Given the description of an element on the screen output the (x, y) to click on. 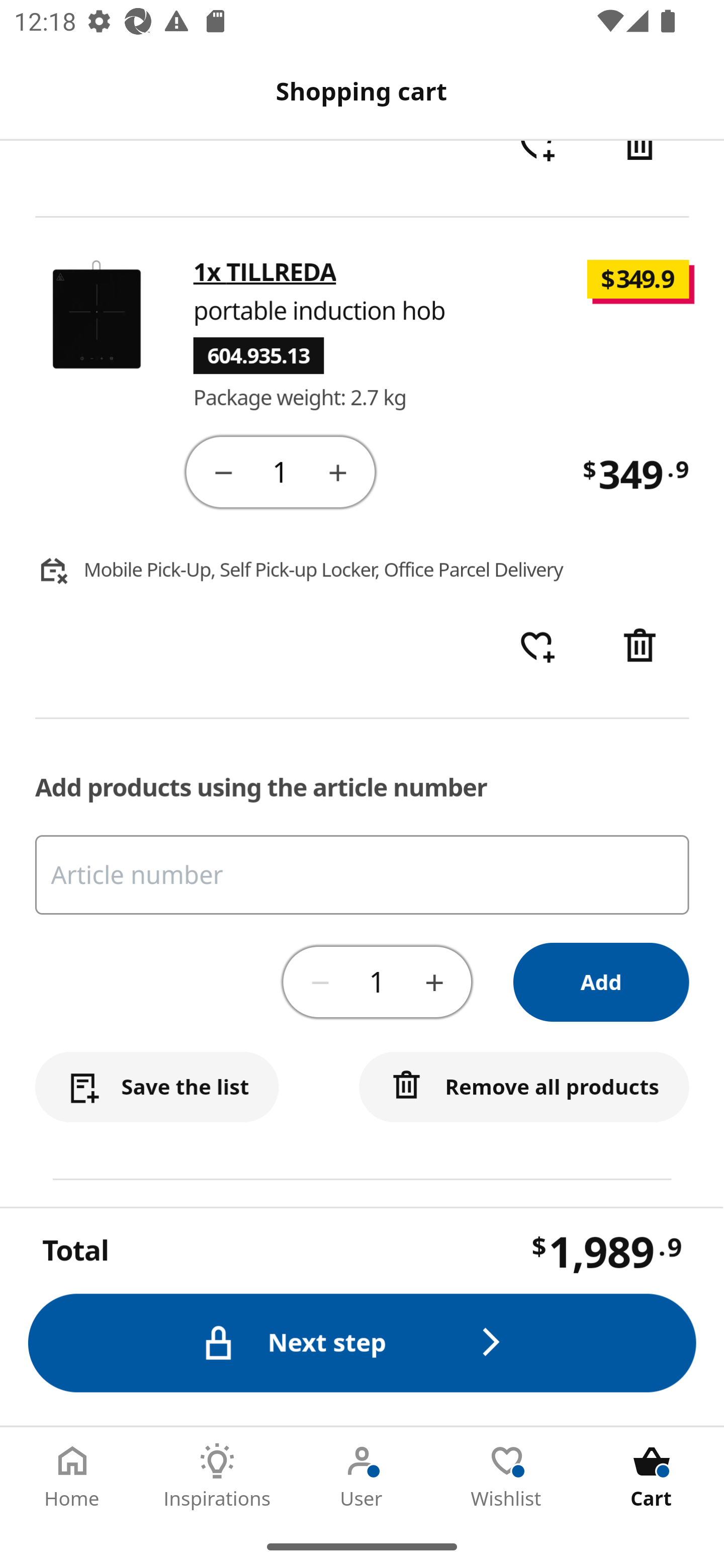
  (536, 169)
 (641, 169)
1x  TILLREDA 1x  TILLREDA (265, 273)
1 (281, 472)
 (223, 473)
 (338, 473)
  (536, 647)
 (641, 647)
Add (602, 982)
1 (376, 982)
 (320, 982)
 (434, 982)
 Save the list (157, 1088)
 Remove all products (525, 1088)
FIXA FIXA BÄSTIS BÄSTIS KOPPLA KOPPLA (363, 1359)
Home
Tab 1 of 5 (72, 1476)
Inspirations
Tab 2 of 5 (216, 1476)
User
Tab 3 of 5 (361, 1476)
Wishlist
Tab 4 of 5 (506, 1476)
Cart
Tab 5 of 5 (651, 1476)
